Given the description of an element on the screen output the (x, y) to click on. 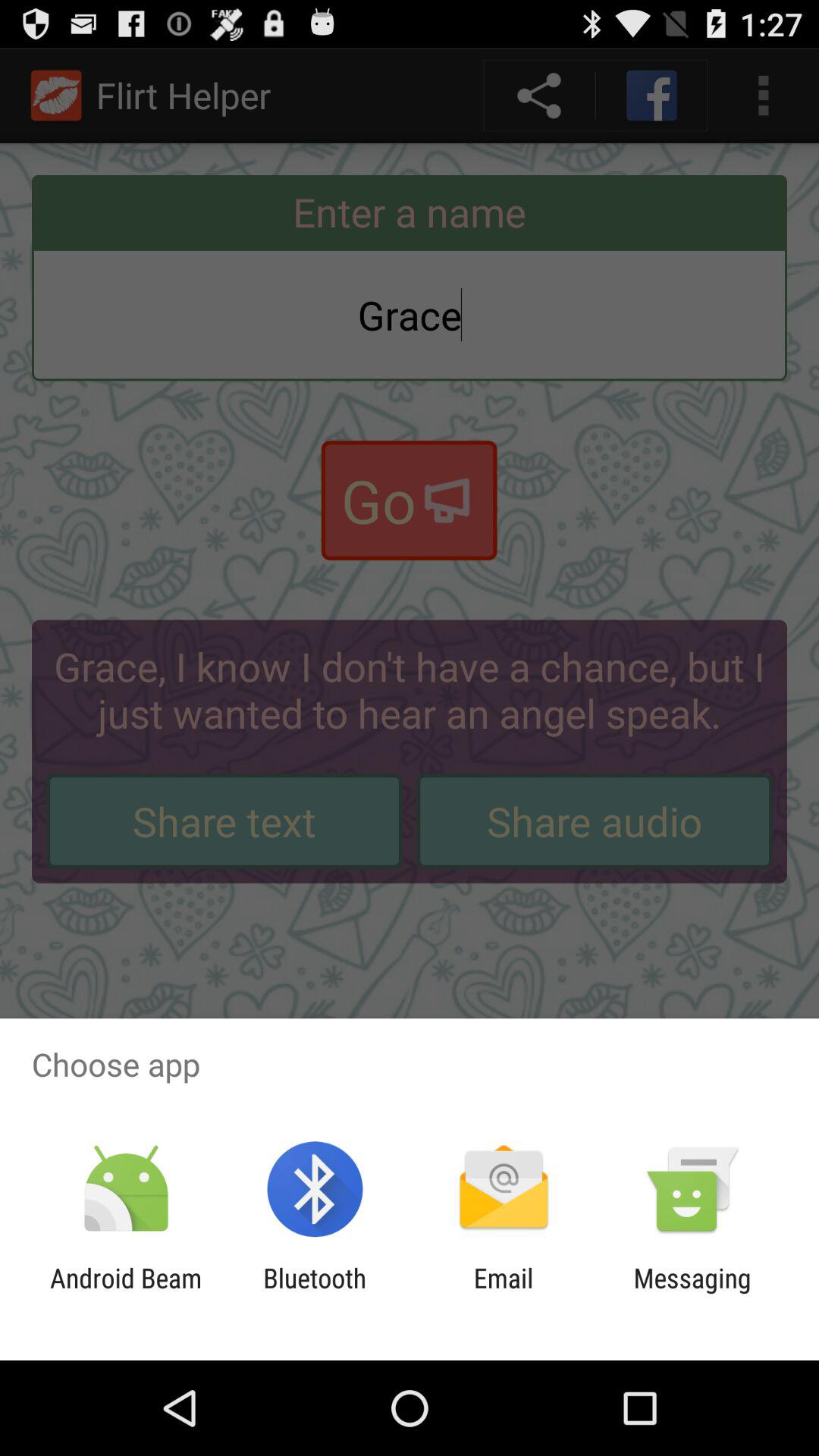
flip to email icon (503, 1293)
